Given the description of an element on the screen output the (x, y) to click on. 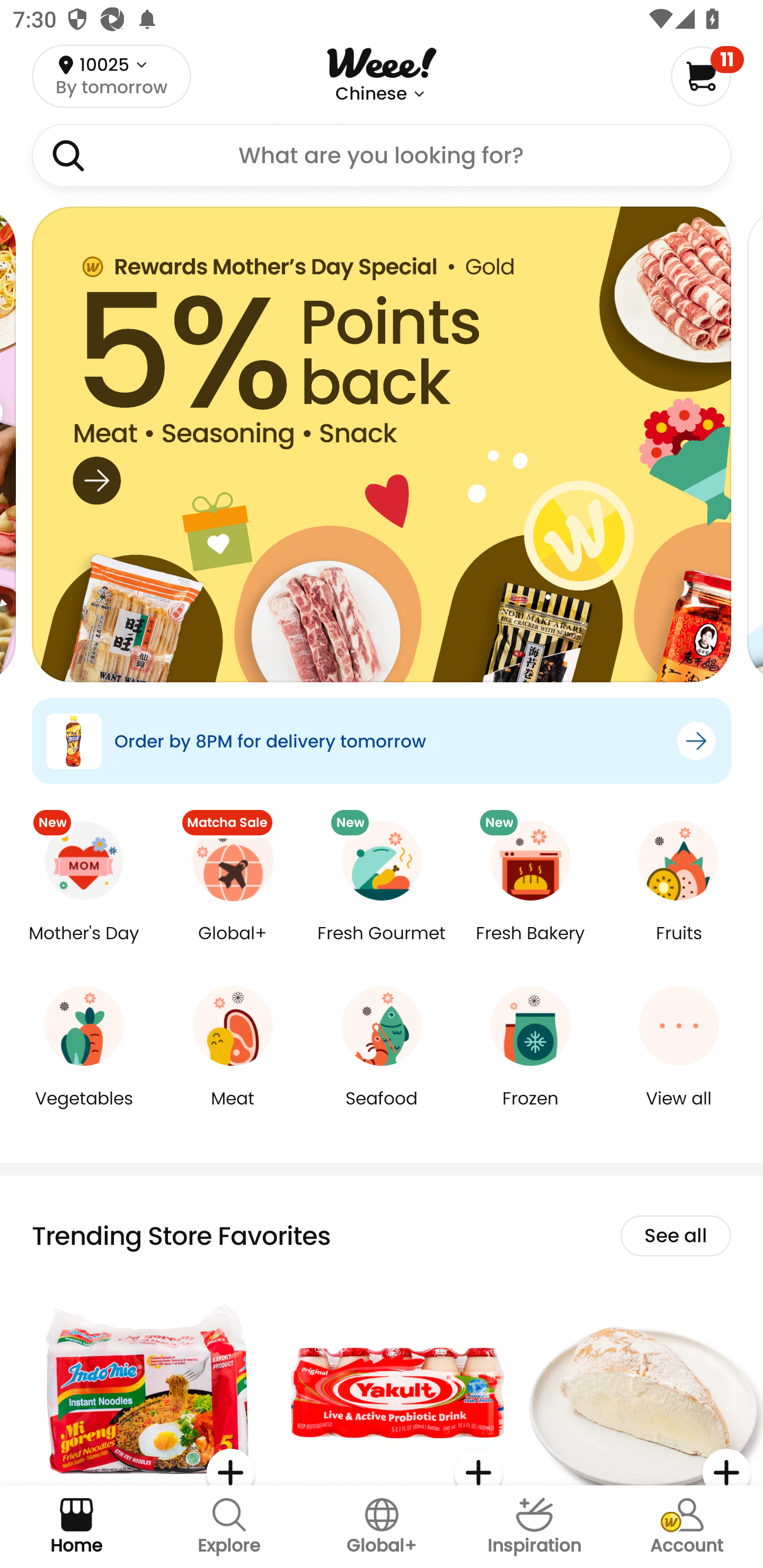
10025 By tomorrow (111, 75)
11 (706, 75)
Chinese (370, 93)
What are you looking for? (381, 155)
Order by 8PM for delivery tomorrow (381, 740)
Mother's Day (83, 946)
Global+ (232, 946)
Fresh Gourmet (381, 946)
Fresh Bakery (530, 946)
Fruits (678, 946)
Vegetables (83, 1111)
Meat (232, 1111)
Seafood (381, 1111)
Frozen (530, 1111)
View all (678, 1111)
Home (76, 1526)
Explore (228, 1526)
Global+ (381, 1526)
Inspiration (533, 1526)
Account (686, 1526)
